Given the description of an element on the screen output the (x, y) to click on. 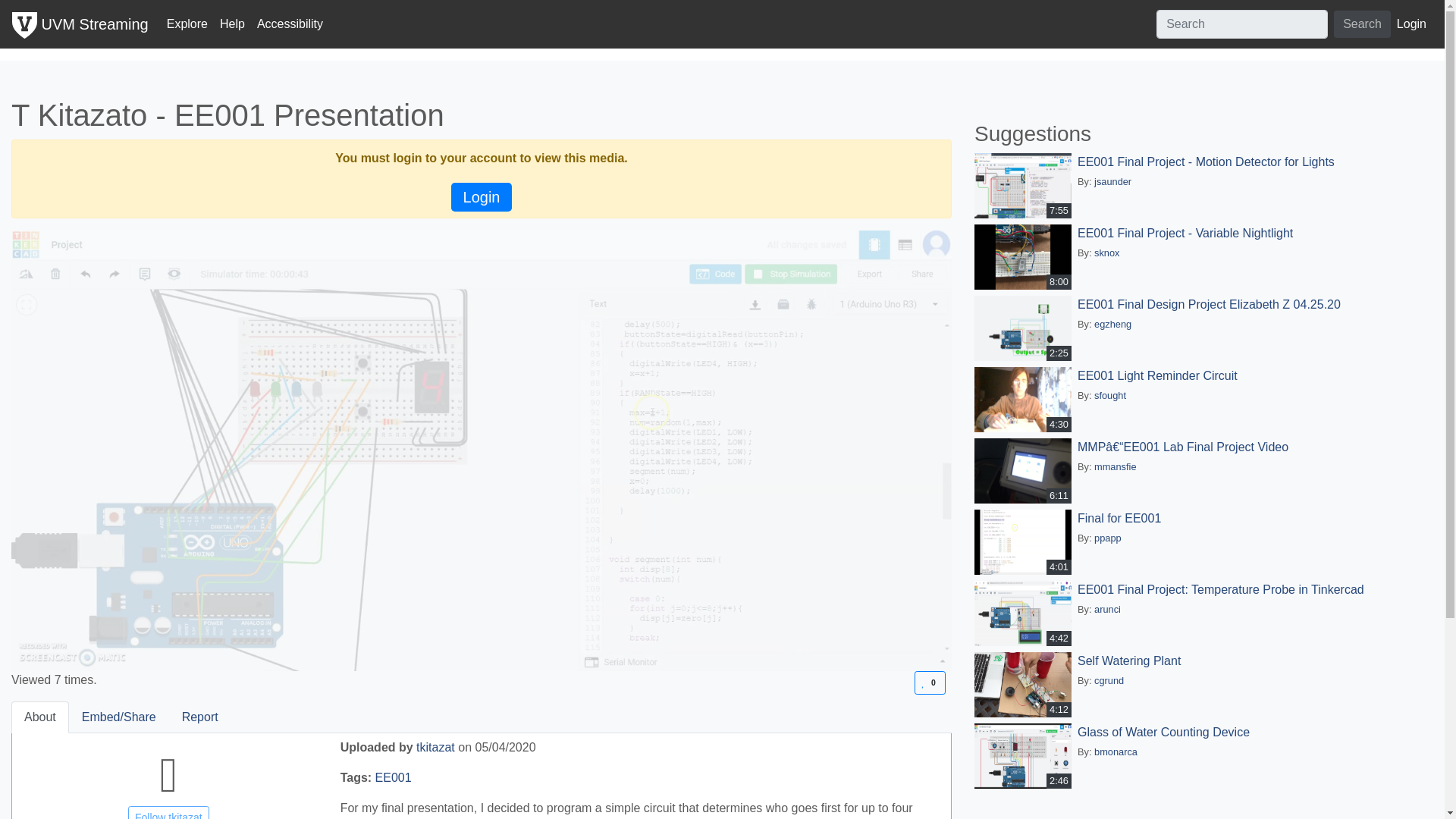
Help (232, 24)
Explore (187, 24)
jsaunder (1112, 181)
Accessibility (289, 24)
Follow tkitazat (168, 812)
EE001 Final Project - Motion Detector for Lights (929, 682)
Search (1206, 161)
4:30 (1361, 23)
About (1025, 399)
